Given the description of an element on the screen output the (x, y) to click on. 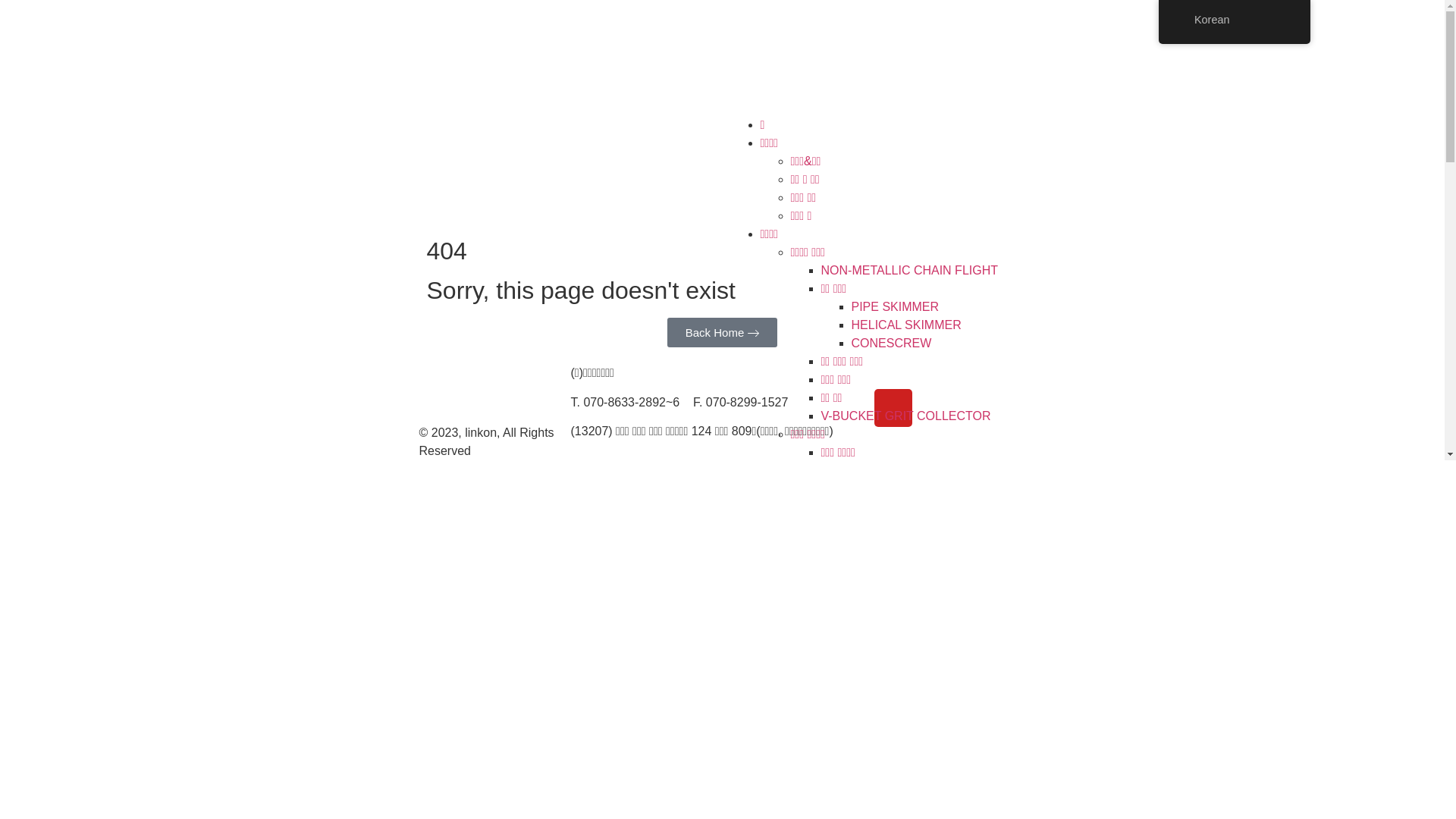
Korean Element type: text (1234, 21)
3Door Element type: text (867, 561)
HELICAL SKIMMER Element type: text (905, 324)
2Door Element type: text (867, 542)
Korean Element type: hover (1183, 20)
PIPE SKIMMER Element type: text (894, 306)
NON-METALLIC CHAIN FLIGHT Element type: text (908, 269)
1Door Element type: text (867, 524)
Korean Element type: text (1234, 20)
1Door-Auto Element type: text (881, 579)
arrow-icon-size3
Back Home Element type: text (722, 332)
V-BUCKET GRIT COLLECTOR Element type: text (905, 415)
CONESCREW Element type: text (890, 342)
